Given the description of an element on the screen output the (x, y) to click on. 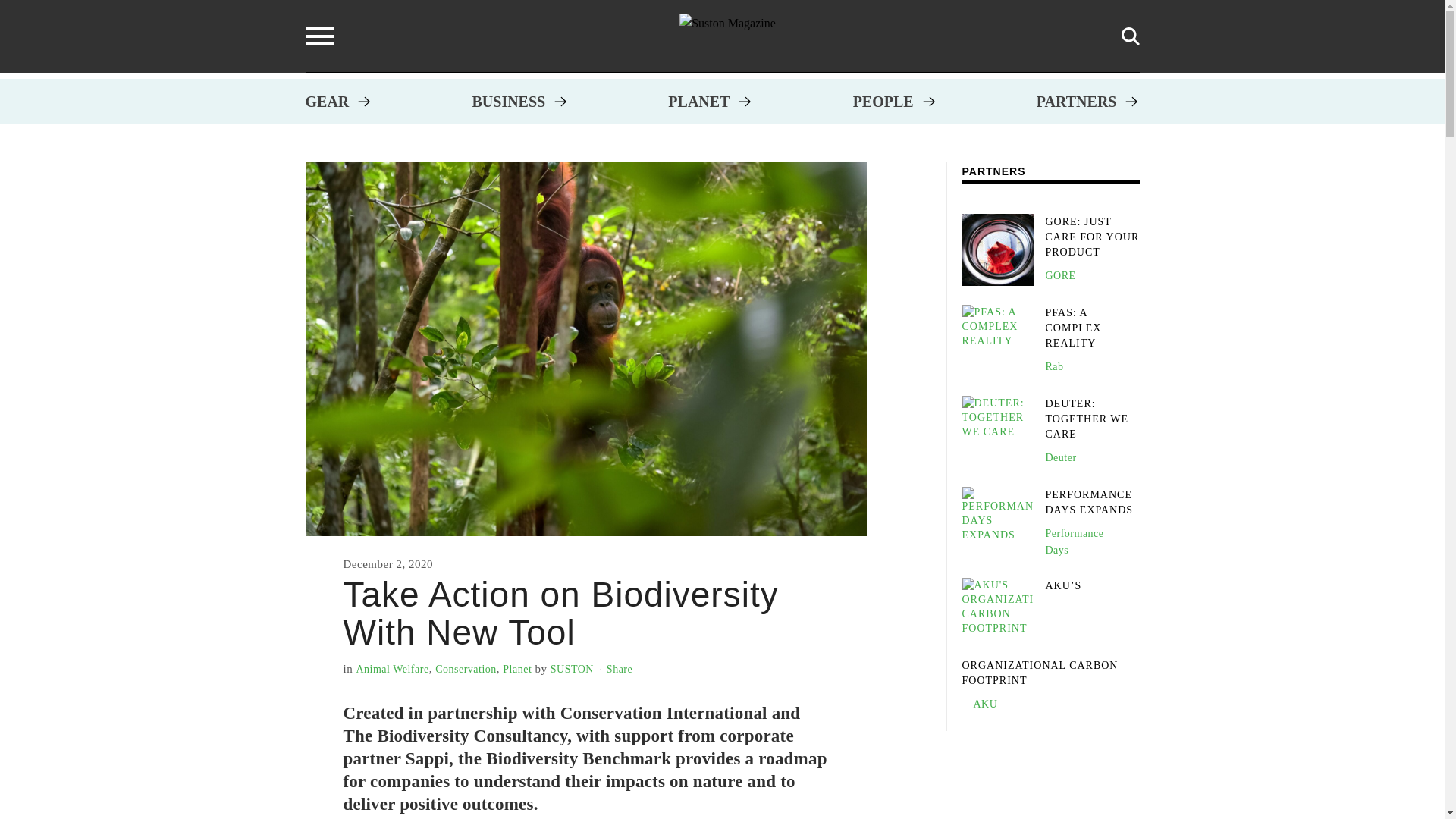
PEOPLE (883, 101)
Planet (516, 668)
Suston Magazine (727, 35)
Share (619, 668)
PARTNERS (1076, 101)
PFAS: A COMPLEX REALITY (1072, 327)
GORE (1060, 275)
SUSTON (572, 668)
Performance Days (1074, 541)
GEAR (326, 101)
